Given the description of an element on the screen output the (x, y) to click on. 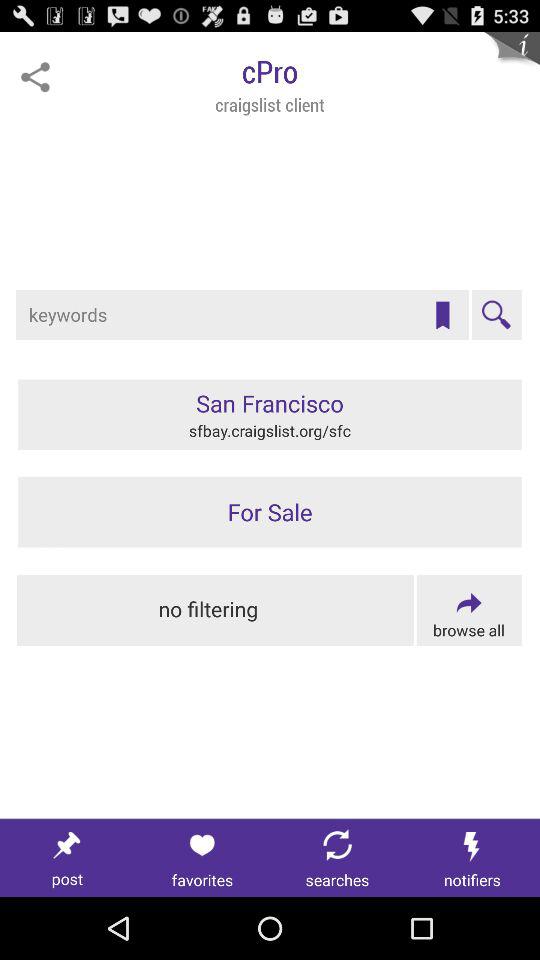
this would turn off all filters and show all options/information from keyword (215, 610)
